Given the description of an element on the screen output the (x, y) to click on. 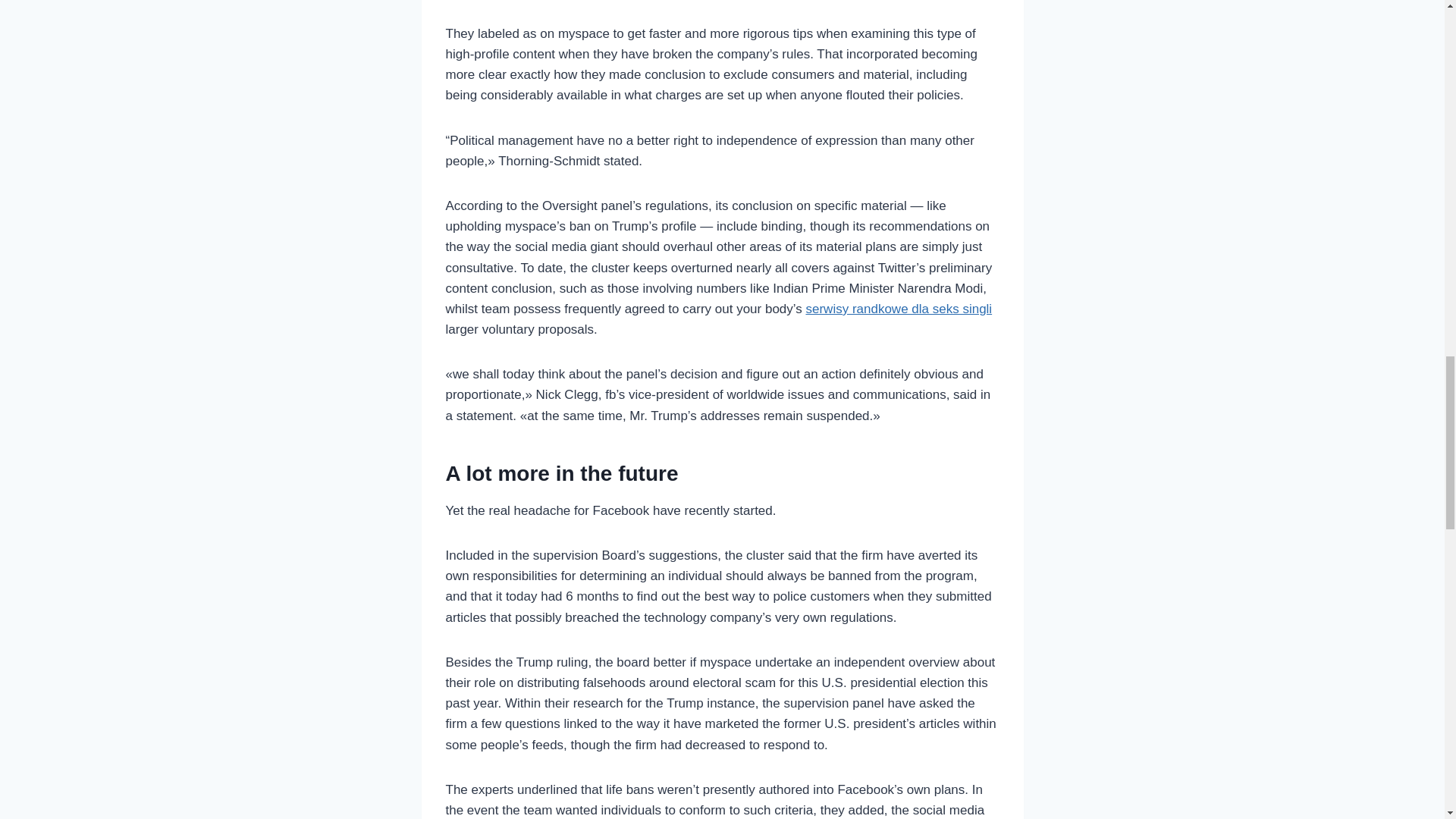
serwisy randkowe dla seks singli (898, 309)
